Given the description of an element on the screen output the (x, y) to click on. 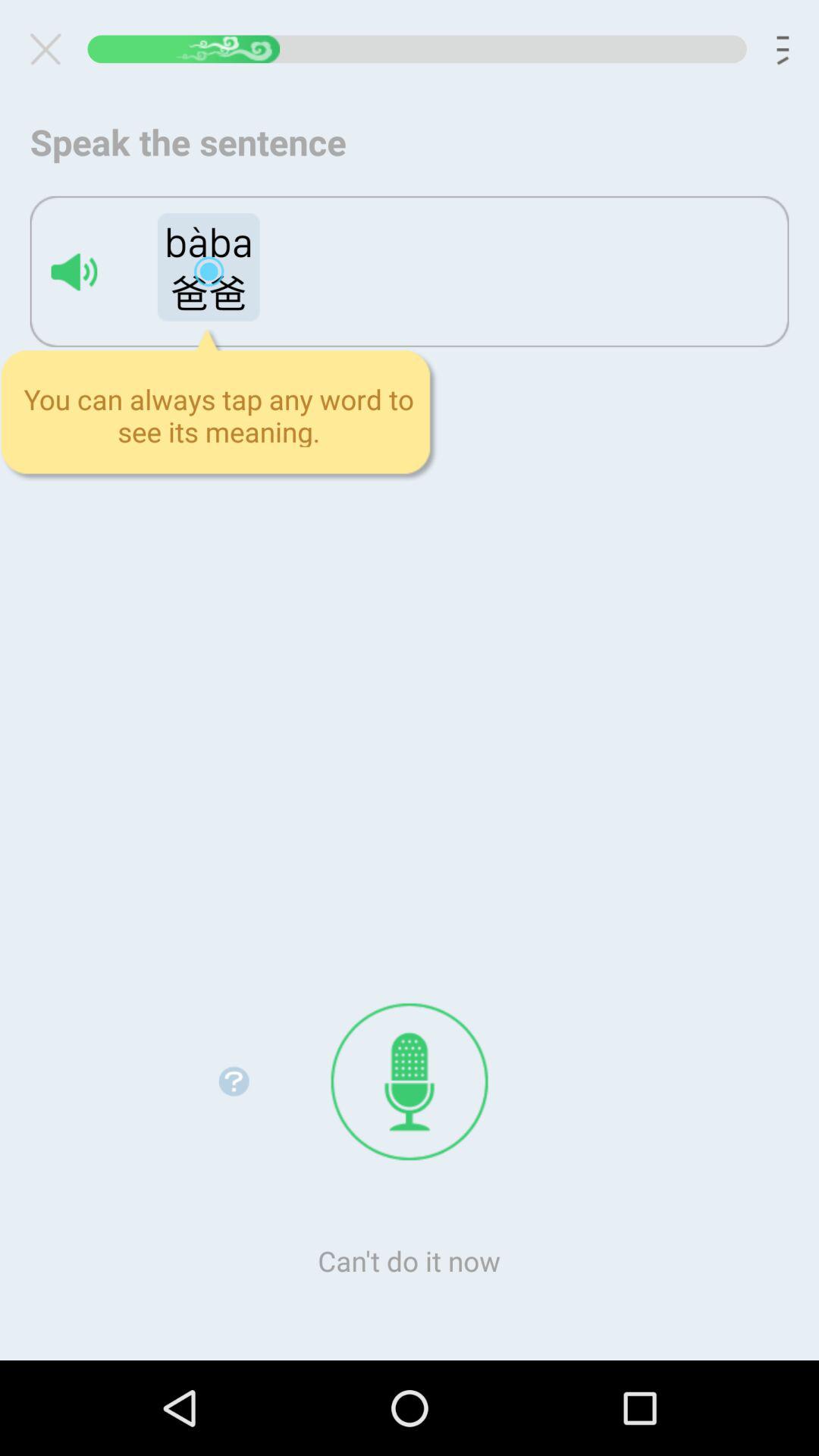
mic button (409, 1081)
